Given the description of an element on the screen output the (x, y) to click on. 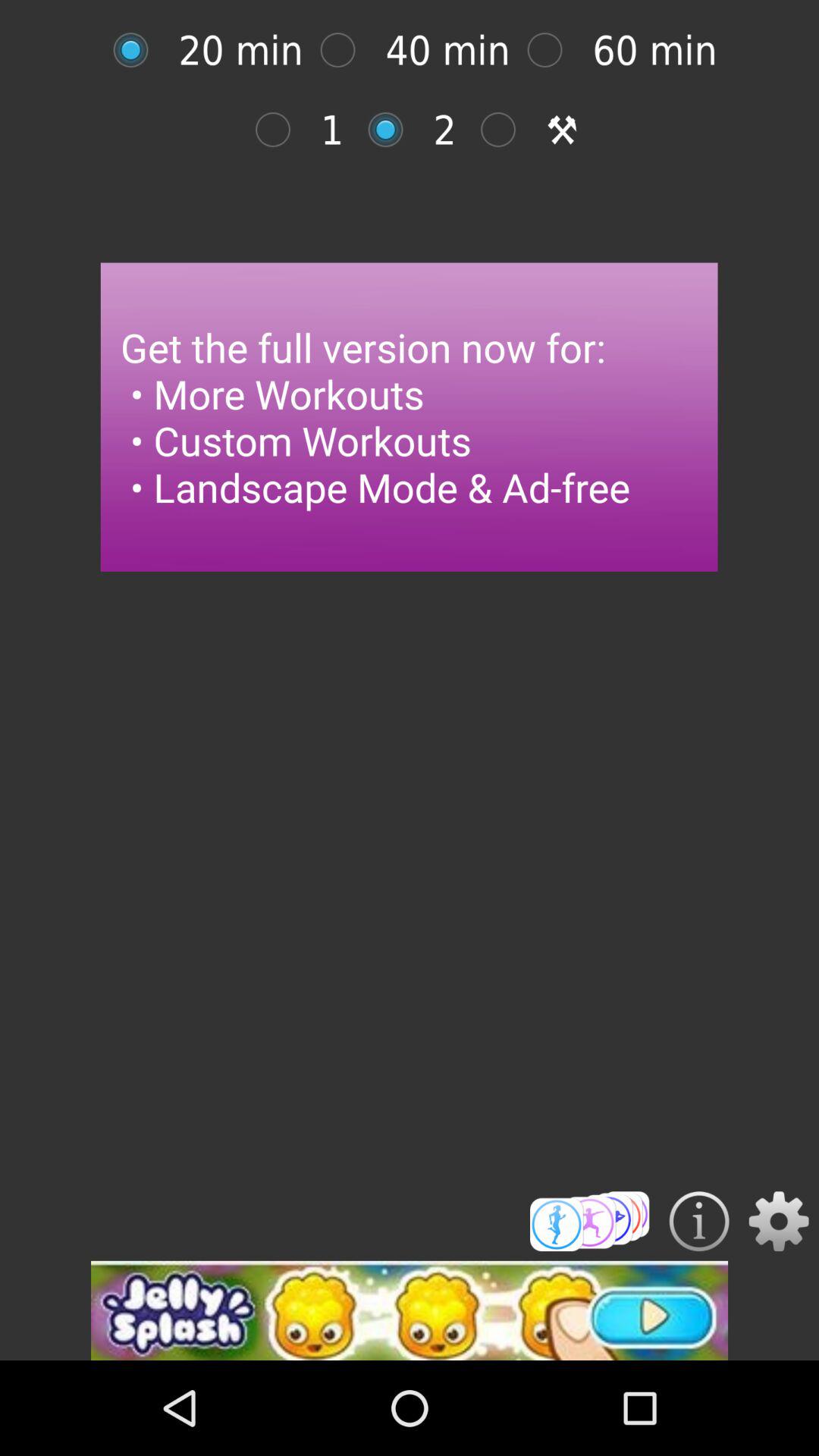
select workouts (589, 1221)
